Given the description of an element on the screen output the (x, y) to click on. 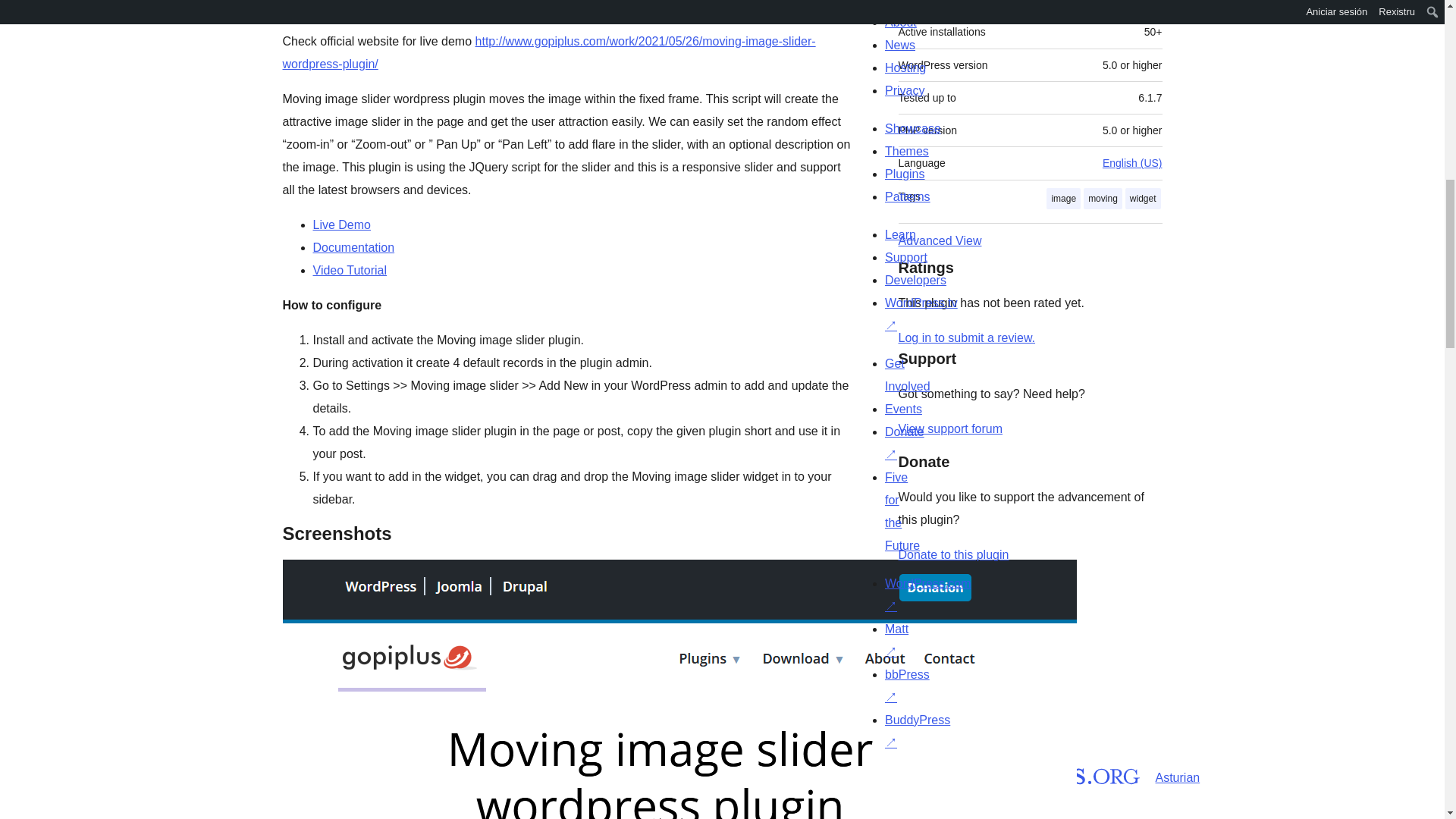
Documentation (353, 246)
WordPress.org (1014, 773)
Video Tutorial (350, 269)
Live Demo (341, 224)
WordPress.org (864, 773)
Documentation (353, 246)
Video Tutorial (350, 269)
Live Demo (341, 224)
Log in to WordPress.org (966, 337)
